Given the description of an element on the screen output the (x, y) to click on. 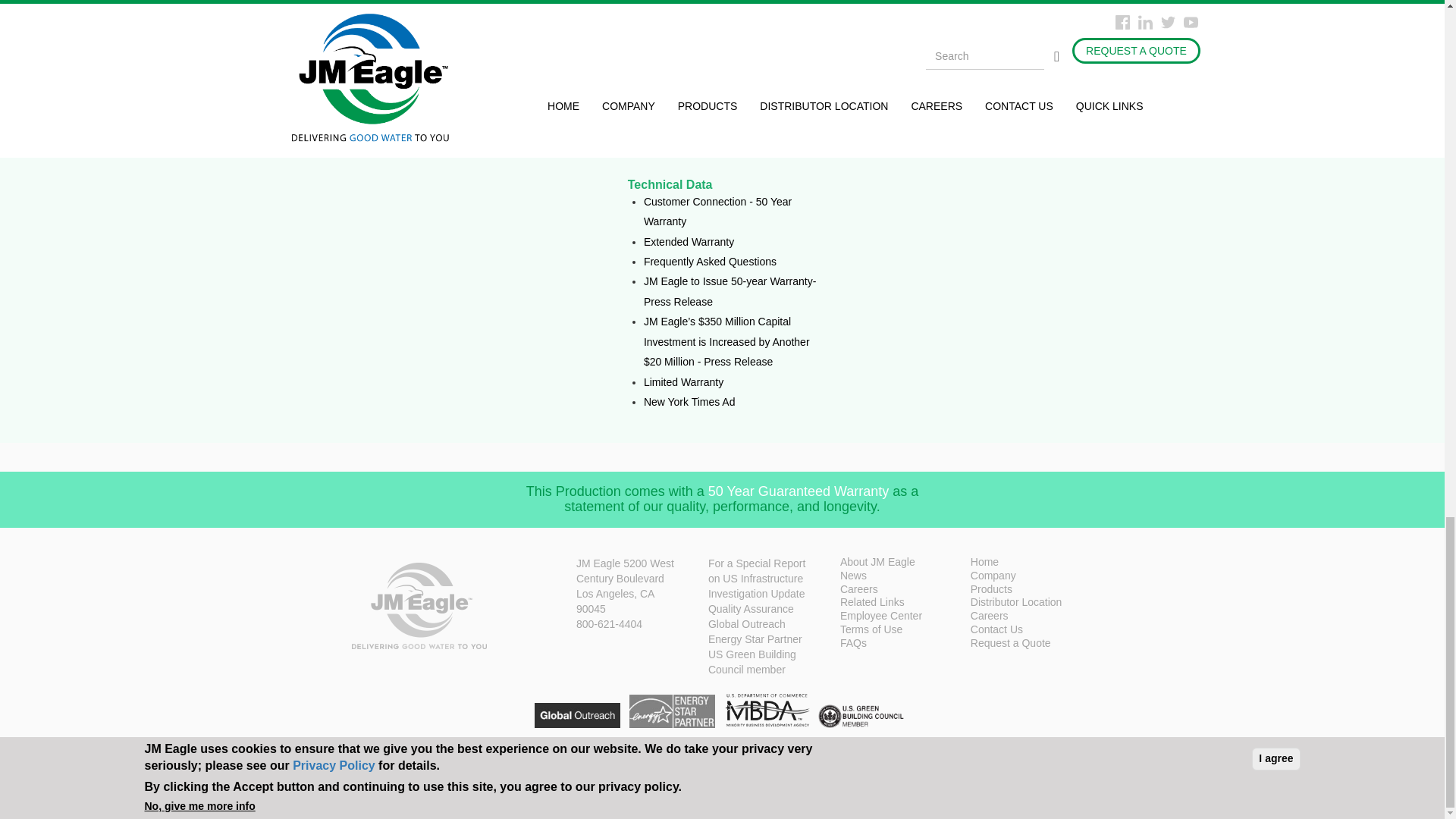
About JM Eagle (904, 563)
Products (1034, 590)
WARRANTY INFORMATION (255, 55)
Careers (1034, 617)
Employee Center (904, 617)
Home (1034, 563)
FAQs (904, 644)
New York Times Ad (689, 401)
Frequently Asked Questions (709, 261)
Related Links (904, 603)
